Given the description of an element on the screen output the (x, y) to click on. 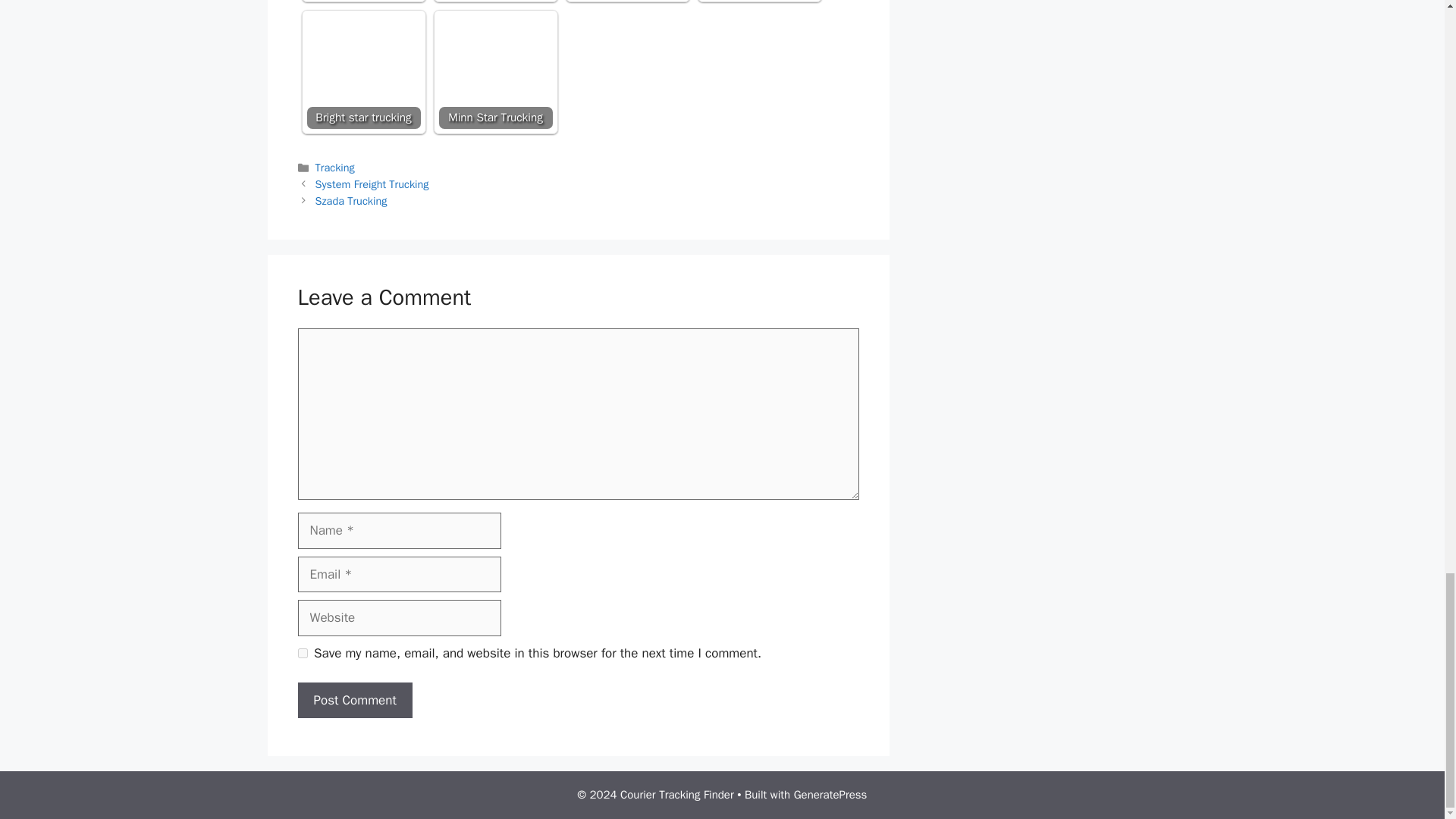
yes (302, 653)
Bright star trucking (362, 71)
System Freight Trucking (372, 183)
GeneratePress (830, 794)
Tracking (335, 167)
Post Comment (354, 700)
Minn Star Trucking (494, 71)
Minn Star Trucking (494, 71)
Post Comment (354, 700)
Bright star trucking (362, 71)
Szada Trucking (351, 201)
